Given the description of an element on the screen output the (x, y) to click on. 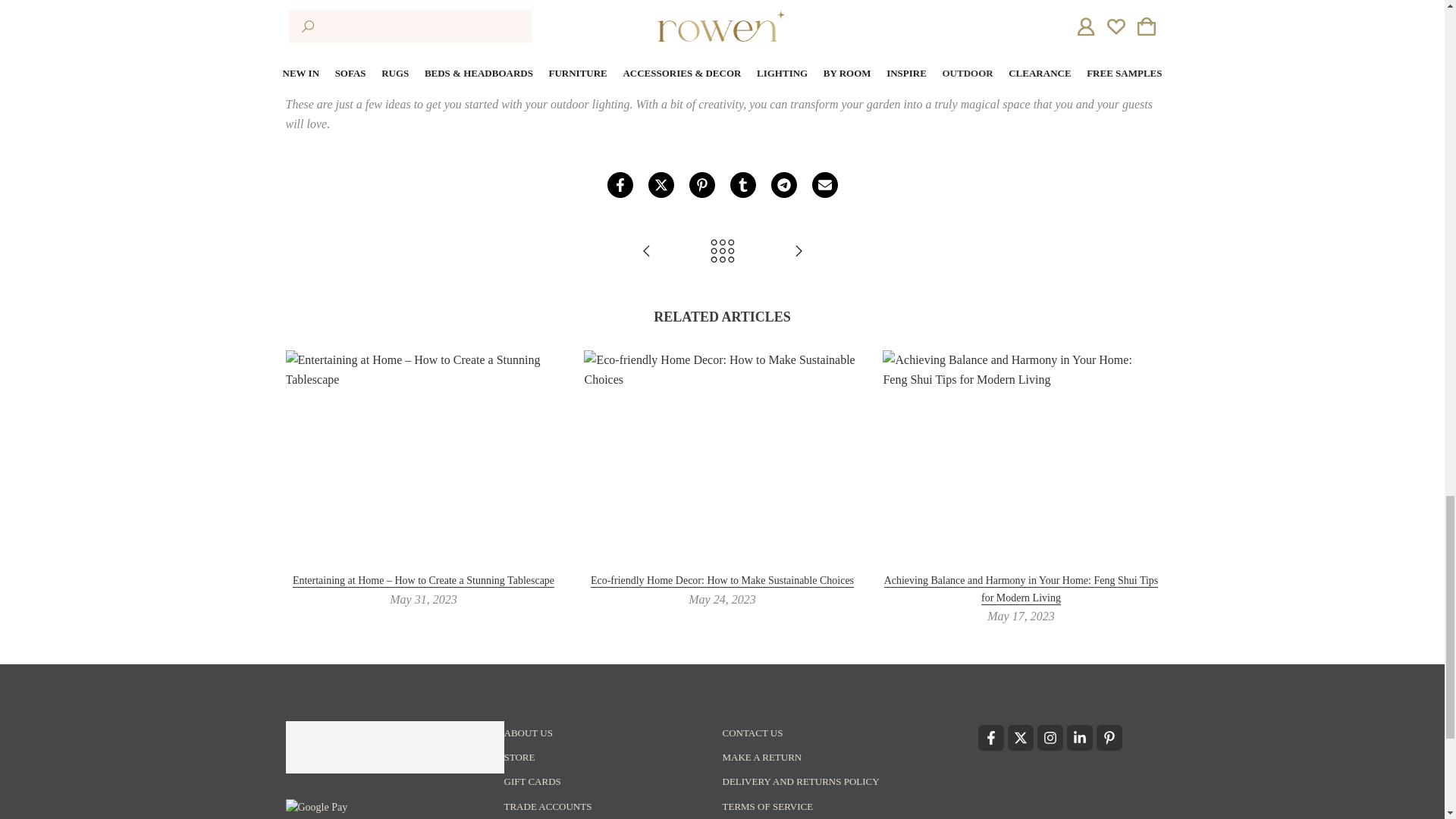
Love it or hate it? The faux-fur bed that is turning heads! (646, 251)
Eco-friendly Home Decor: How to Make Sustainable Choices (722, 581)
Share on Tumblr (742, 184)
Follow on Pinterest (1109, 737)
Share on Pinterest (701, 184)
Share on Email (823, 184)
Everything You Need To Know About LED Lights (797, 251)
Follow on Twitter (1019, 737)
Share on Facebook (619, 184)
Follow on Facebook (991, 737)
